Given the description of an element on the screen output the (x, y) to click on. 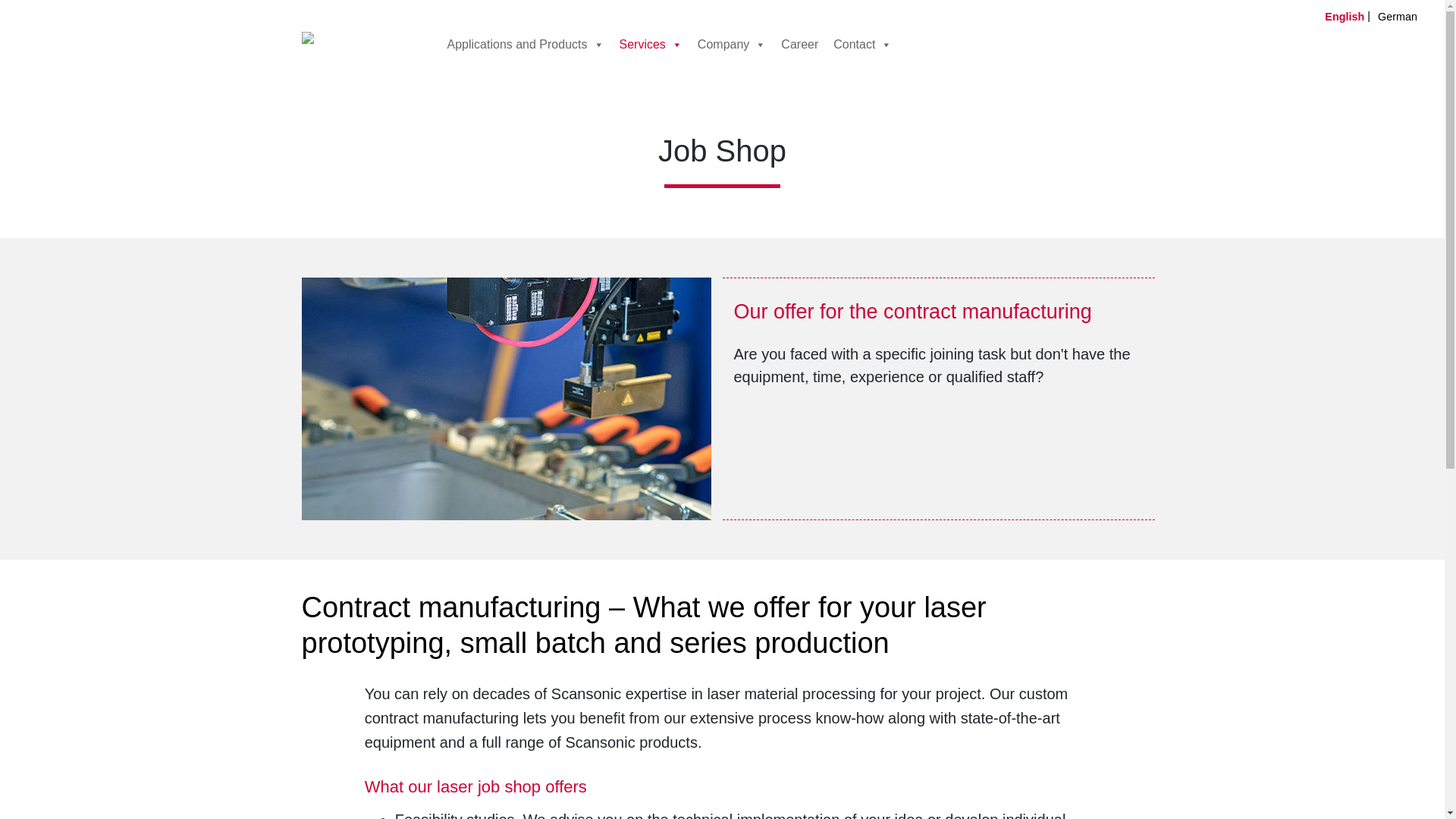
Applications and Products (525, 44)
English (1350, 15)
Services (649, 44)
Company (731, 44)
German (1402, 15)
Jobshop (506, 397)
